Given the description of an element on the screen output the (x, y) to click on. 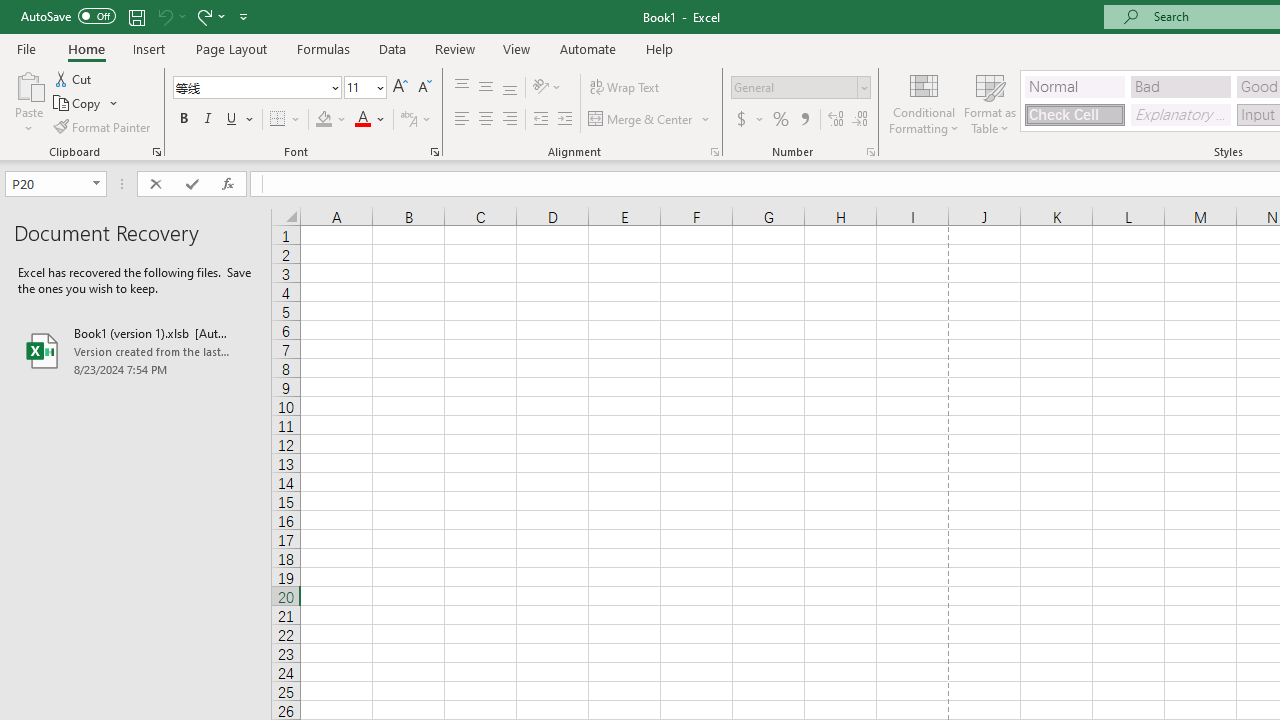
Font Size (365, 87)
Font Color RGB(255, 0, 0) (362, 119)
Accounting Number Format (741, 119)
Conditional Formatting (924, 102)
Explanatory Text (1180, 114)
Show Phonetic Field (408, 119)
Decrease Decimal (859, 119)
Office Clipboard... (156, 151)
Percent Style (781, 119)
Paste (28, 84)
Font (256, 87)
